Given the description of an element on the screen output the (x, y) to click on. 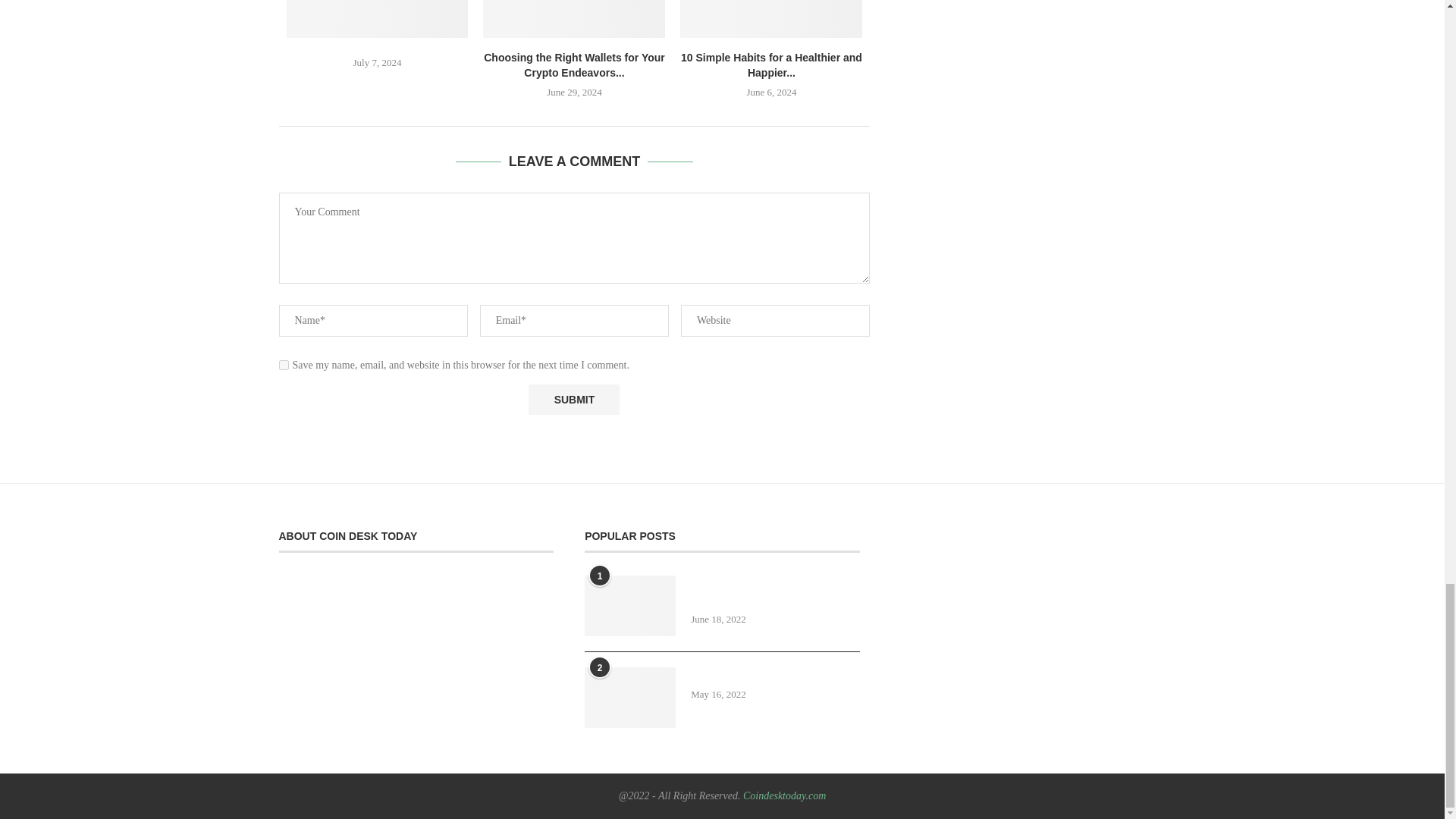
10 Simple Habits for a Healthier and Happier Life (770, 18)
yes (283, 365)
Submit (574, 399)
